Given the description of an element on the screen output the (x, y) to click on. 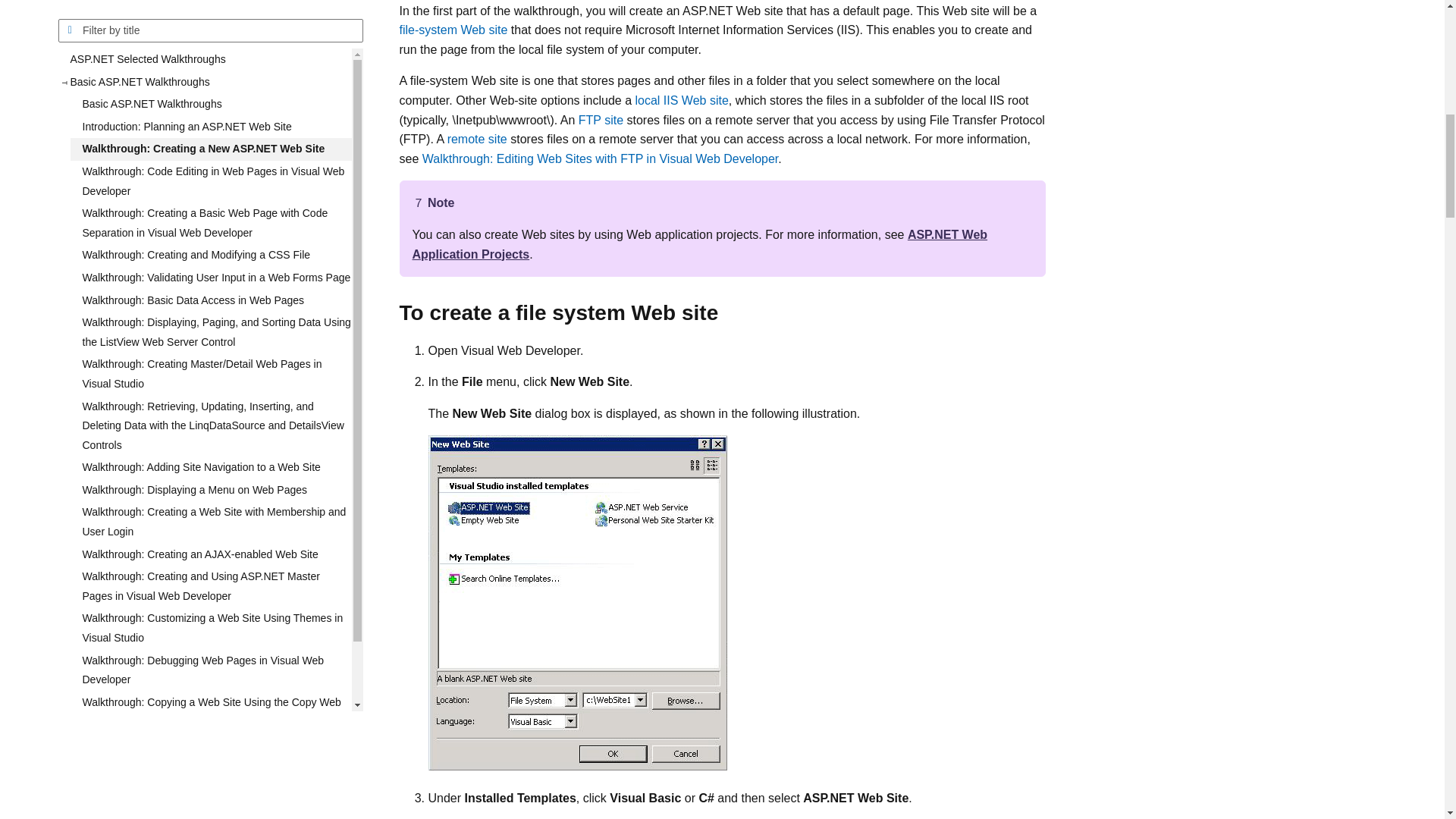
New Web Site Dialog Box screenshot (577, 602)
